Given the description of an element on the screen output the (x, y) to click on. 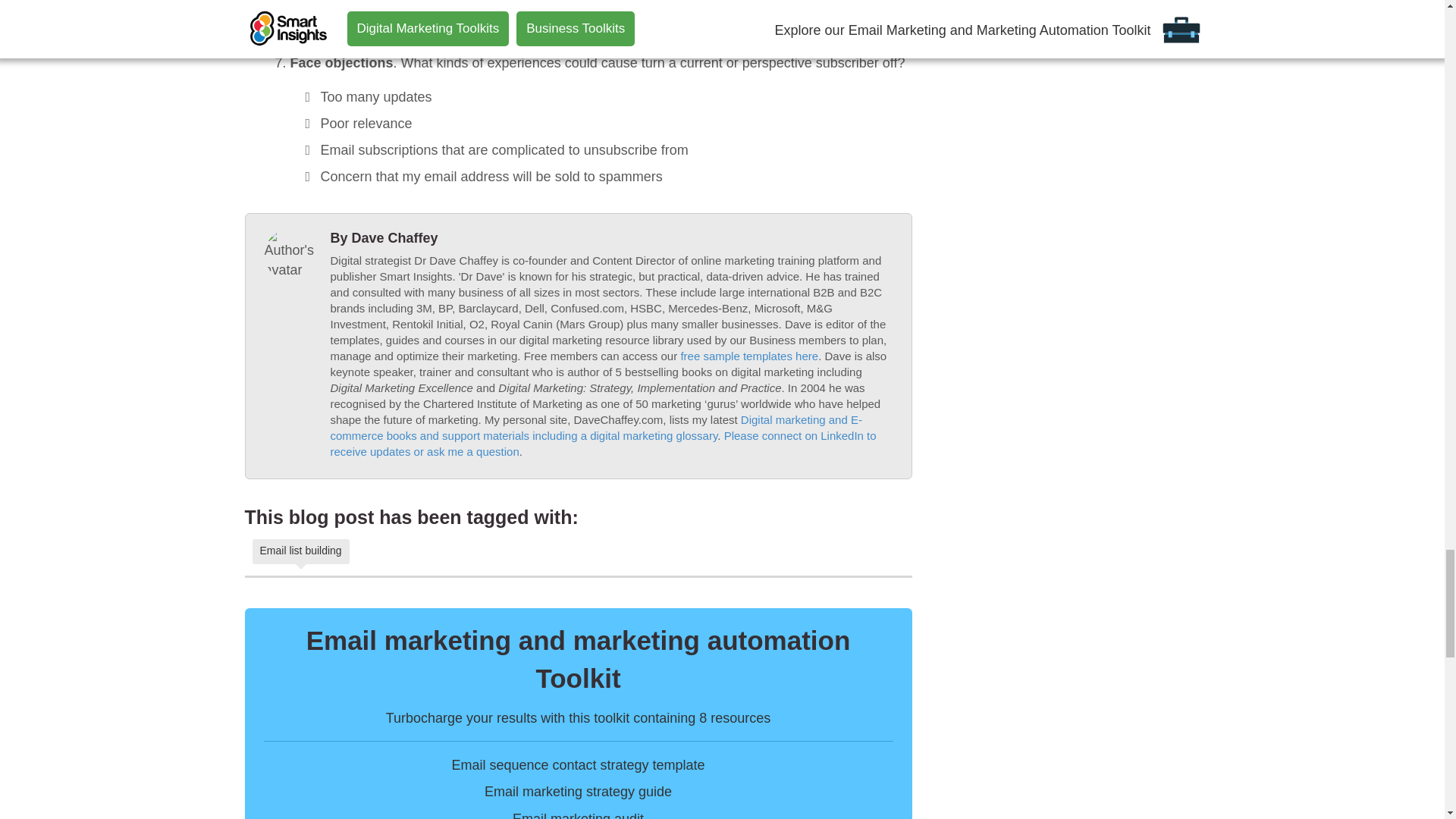
Email list building Tag (300, 551)
